Given the description of an element on the screen output the (x, y) to click on. 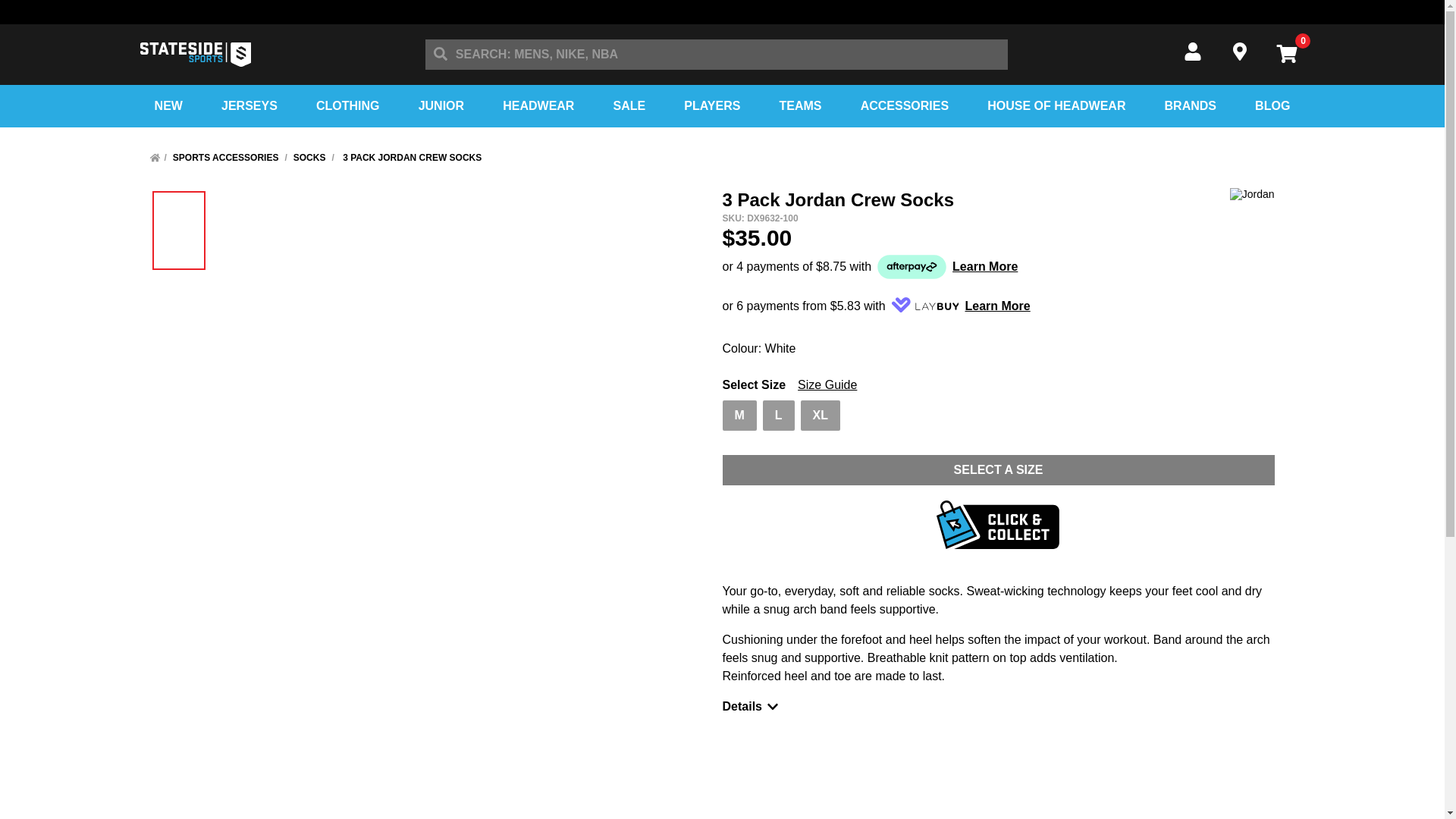
In stock (820, 415)
CLOTHING (347, 106)
JERSEYS (249, 106)
Store Locator (1251, 51)
Search for products, brands, teams (440, 54)
JUNIOR (441, 106)
In stock (738, 415)
Open Cart (1286, 54)
Sign in to your account or sign up (1204, 51)
